Given the description of an element on the screen output the (x, y) to click on. 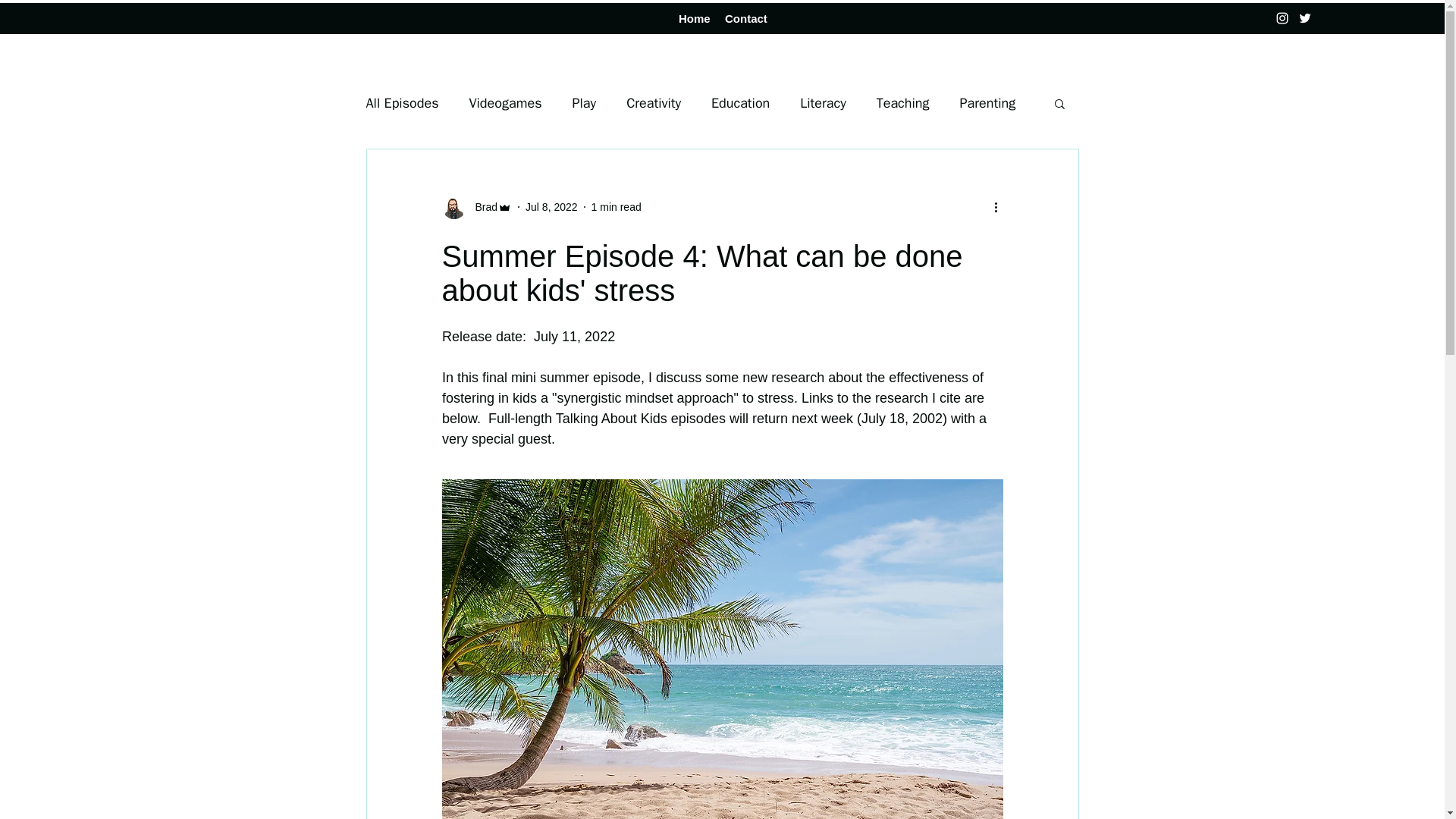
Literacy (822, 103)
Videogames (504, 103)
Brad (481, 206)
Home (694, 18)
Teaching (903, 103)
Parenting (986, 103)
All Episodes (401, 103)
Jul 8, 2022 (551, 205)
Contact (745, 18)
Creativity (653, 103)
